Given the description of an element on the screen output the (x, y) to click on. 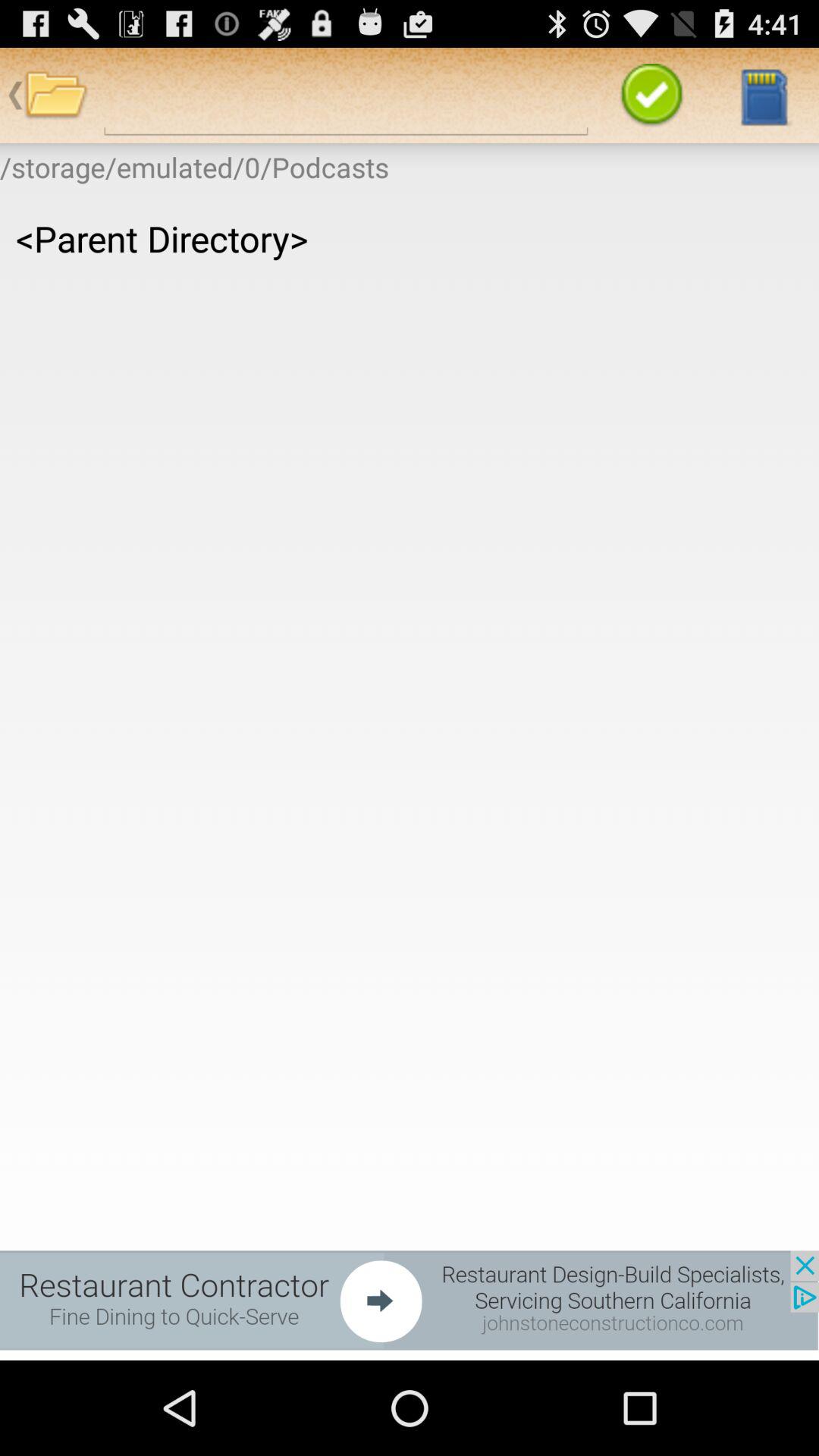
search section (346, 95)
